Given the description of an element on the screen output the (x, y) to click on. 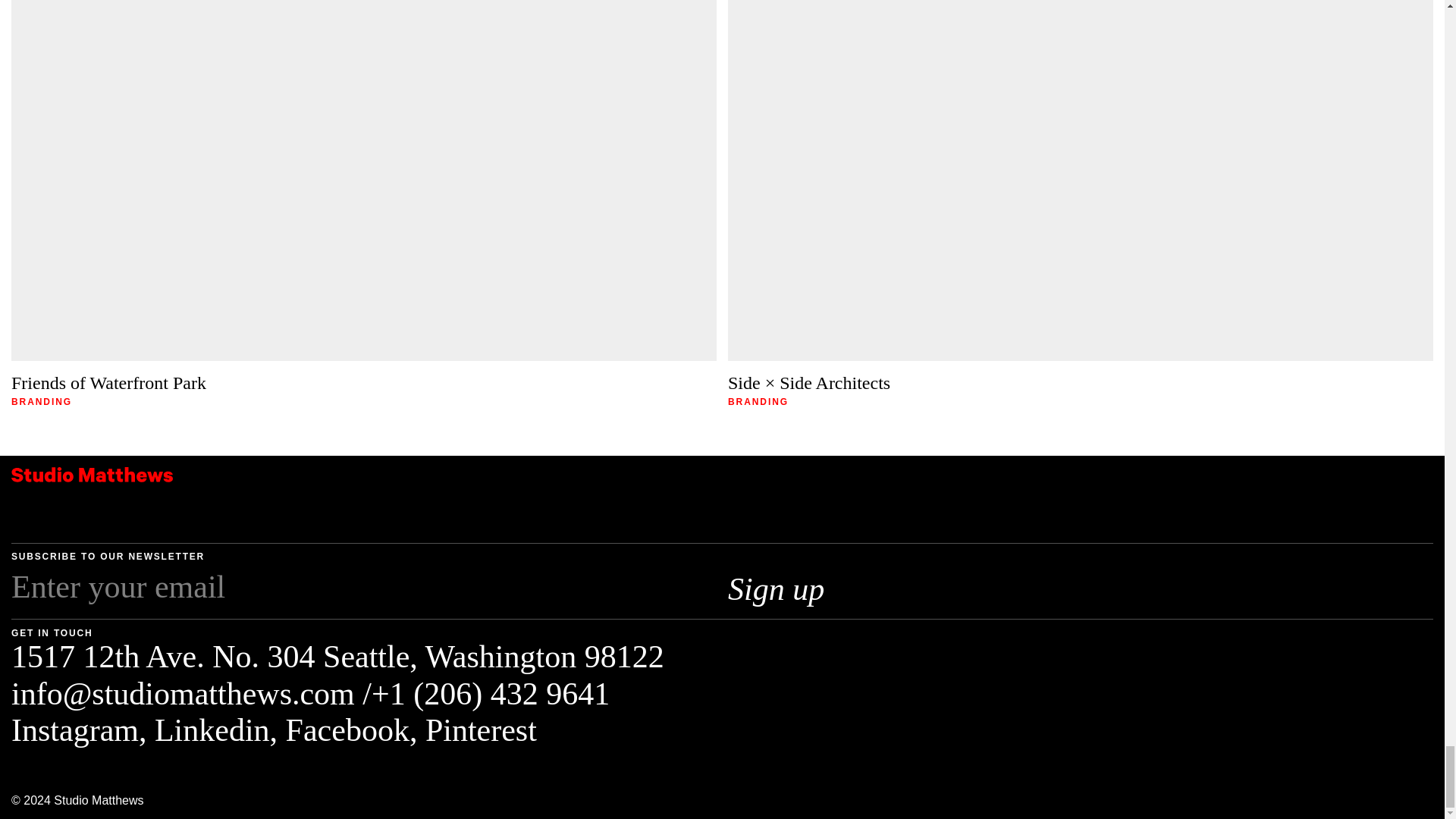
Sign up (800, 588)
BRANDING (758, 402)
Linkedin (211, 729)
Sign up (800, 588)
BRANDING (41, 402)
Instagram (74, 729)
Facebook (347, 729)
Pinterest (481, 729)
